Given the description of an element on the screen output the (x, y) to click on. 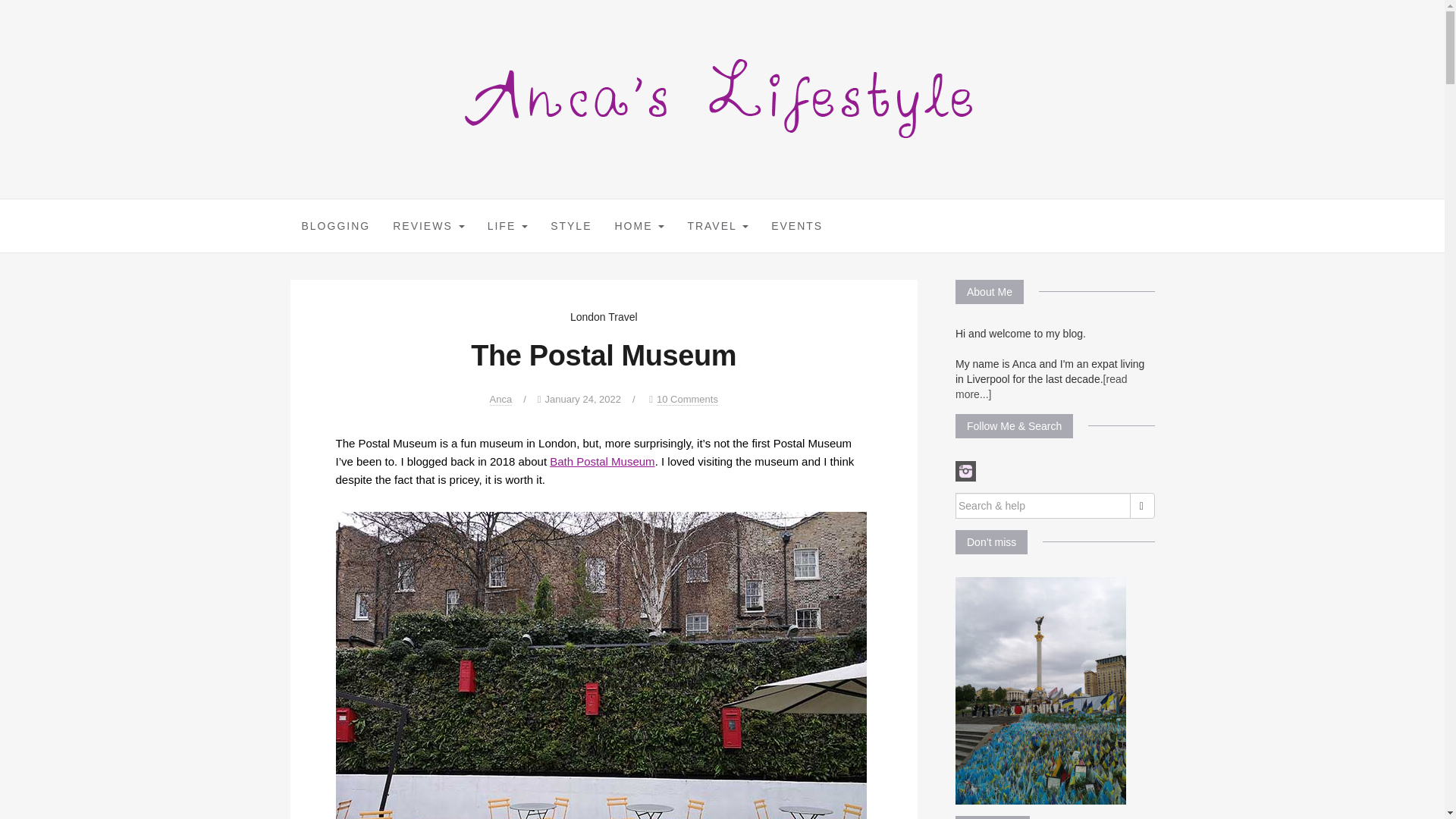
Style (570, 225)
TRAVEL (717, 225)
STYLE (570, 225)
LIFE (507, 225)
Anca (500, 399)
REVIEWS (428, 225)
Home (638, 225)
Bath Postal Museum (601, 461)
BLOGGING (335, 225)
Reviews (428, 225)
